Given the description of an element on the screen output the (x, y) to click on. 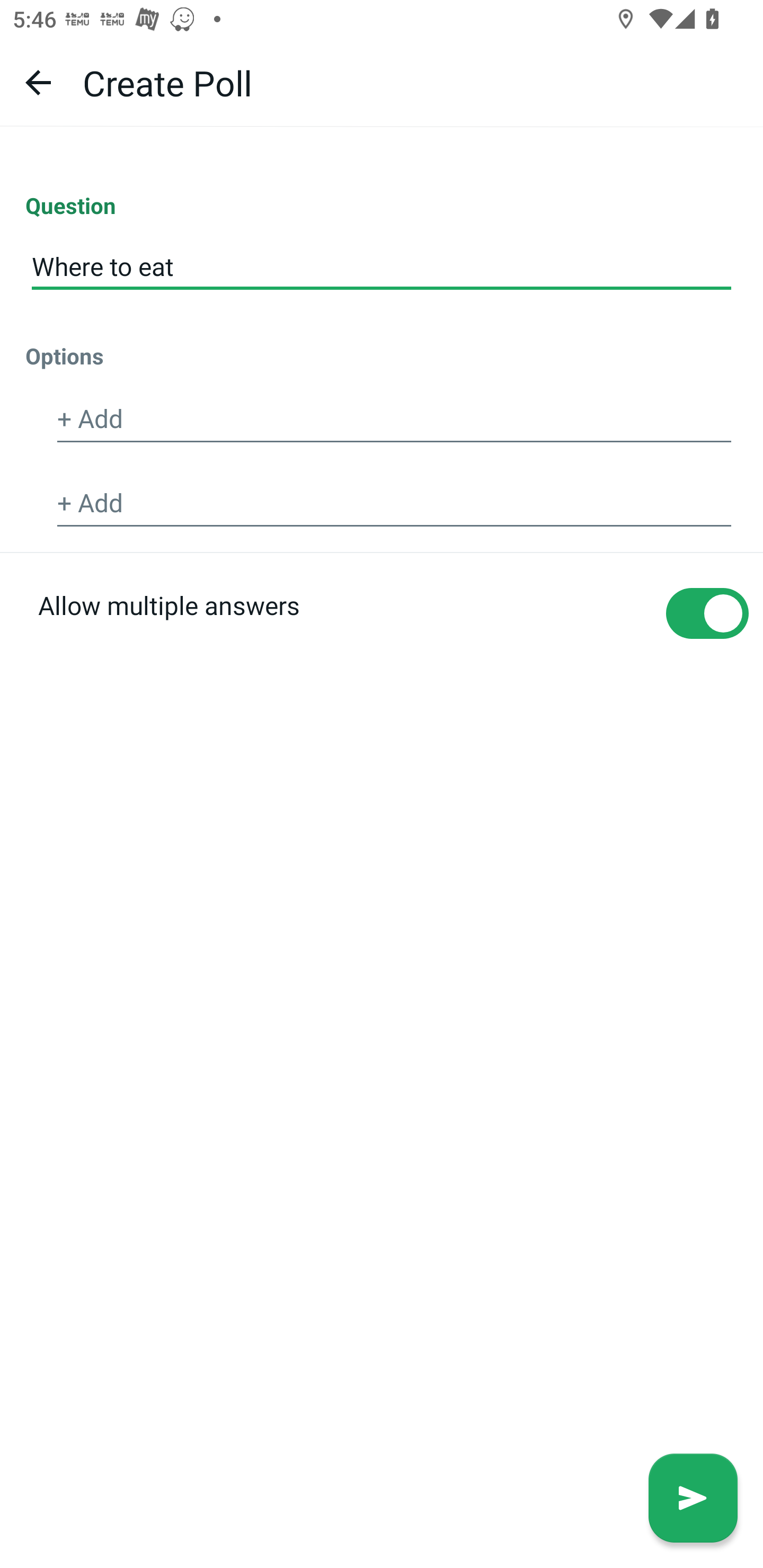
Navigate up (38, 82)
Where to eat (381, 267)
+ Add (394, 419)
+ Add (394, 503)
Allow multiple answers (381, 644)
Send (692, 1497)
